Given the description of an element on the screen output the (x, y) to click on. 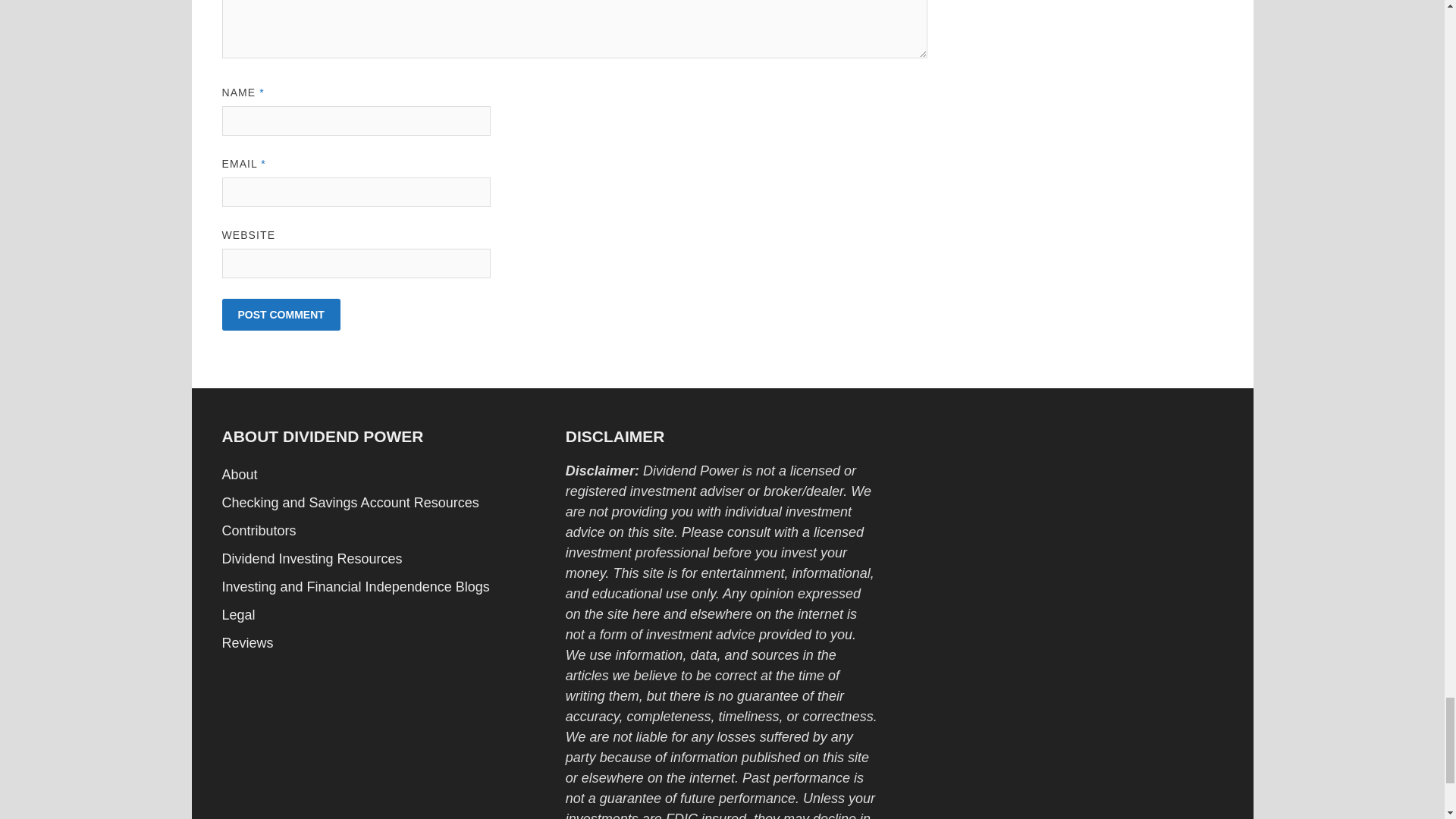
Post Comment (280, 314)
